Given the description of an element on the screen output the (x, y) to click on. 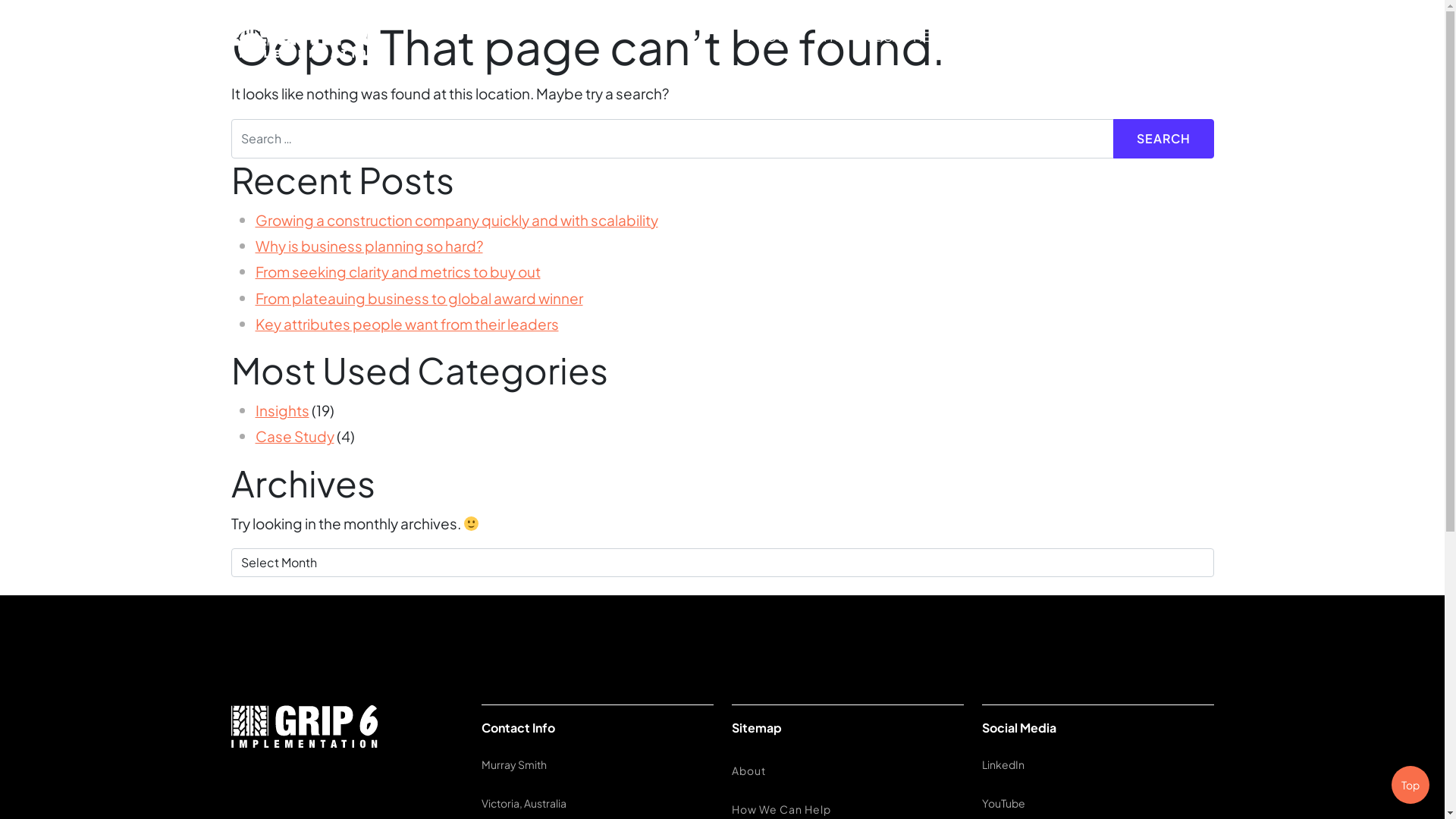
Key attributes people want from their leaders Element type: text (406, 323)
Insights Element type: text (281, 410)
Case Study Element type: text (293, 435)
Top Element type: text (1410, 784)
YouTube Element type: text (1002, 802)
HOW WE CAN HELP Element type: text (884, 36)
LinkedIn Element type: text (1002, 764)
From seeking clarity and metrics to buy out Element type: text (396, 271)
About Element type: text (847, 770)
Growing a construction company quickly and with scalability Element type: text (455, 219)
Search Element type: text (1163, 138)
From plateauing business to global award winner Element type: text (418, 297)
RESOURCES Element type: text (1023, 36)
ABOUT Element type: text (770, 36)
GET IN TOUCH Element type: text (1146, 36)
Why is business planning so hard? Element type: text (368, 245)
